Given the description of an element on the screen output the (x, y) to click on. 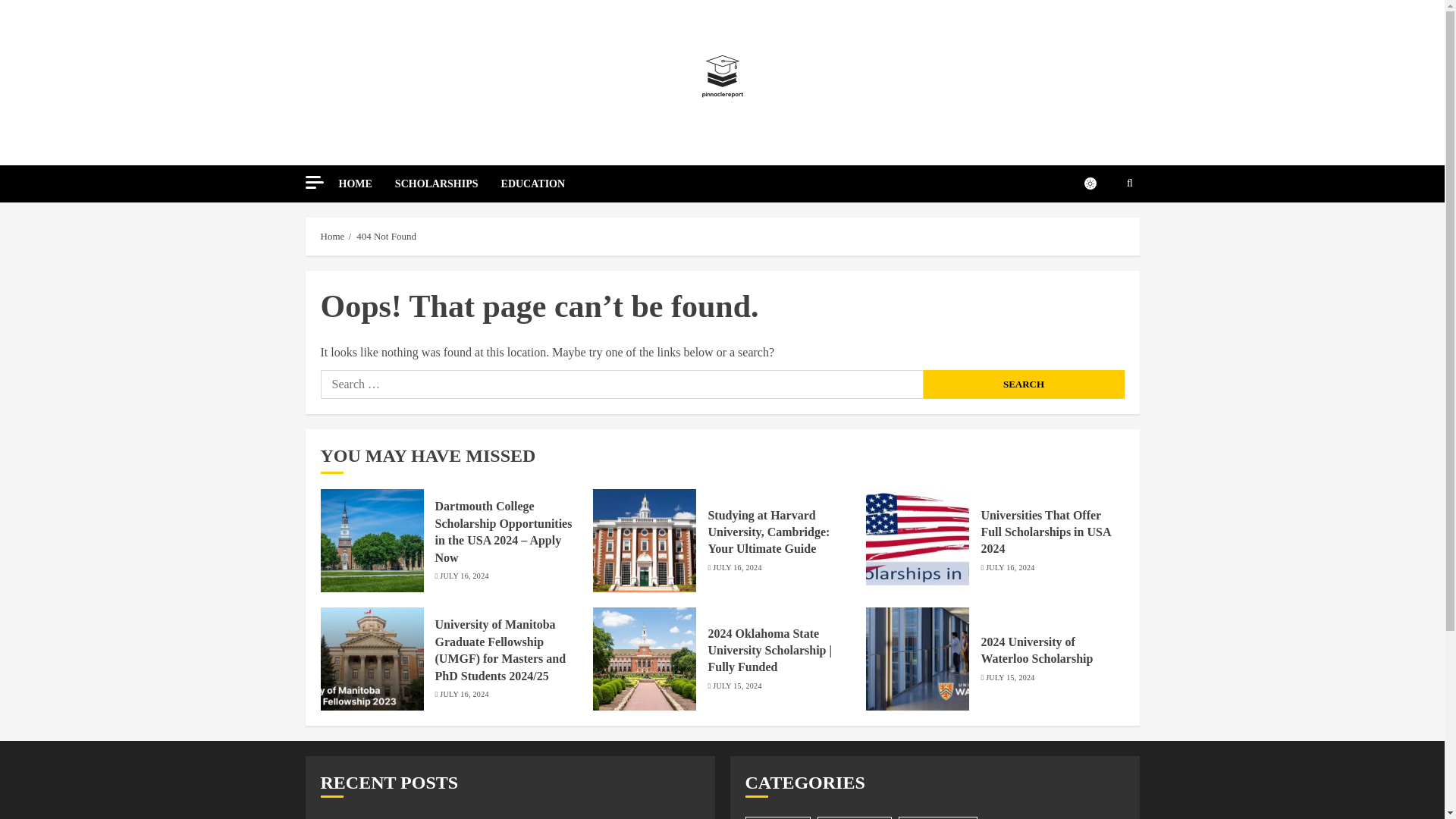
Search (1023, 384)
Home (331, 236)
JULY 16, 2024 (737, 567)
404 Not Found (386, 236)
JULY 16, 2024 (463, 694)
JULY 15, 2024 (1009, 677)
JULY 16, 2024 (1009, 567)
JULY 15, 2024 (737, 685)
JULY 16, 2024 (463, 575)
2024 University of Waterloo Scholarship (1036, 650)
Universities That Offer Full Scholarships in USA 2024 (1044, 532)
Search (1023, 384)
EDUCATION (533, 183)
SCHOLARSHIPS (447, 183)
